Given the description of an element on the screen output the (x, y) to click on. 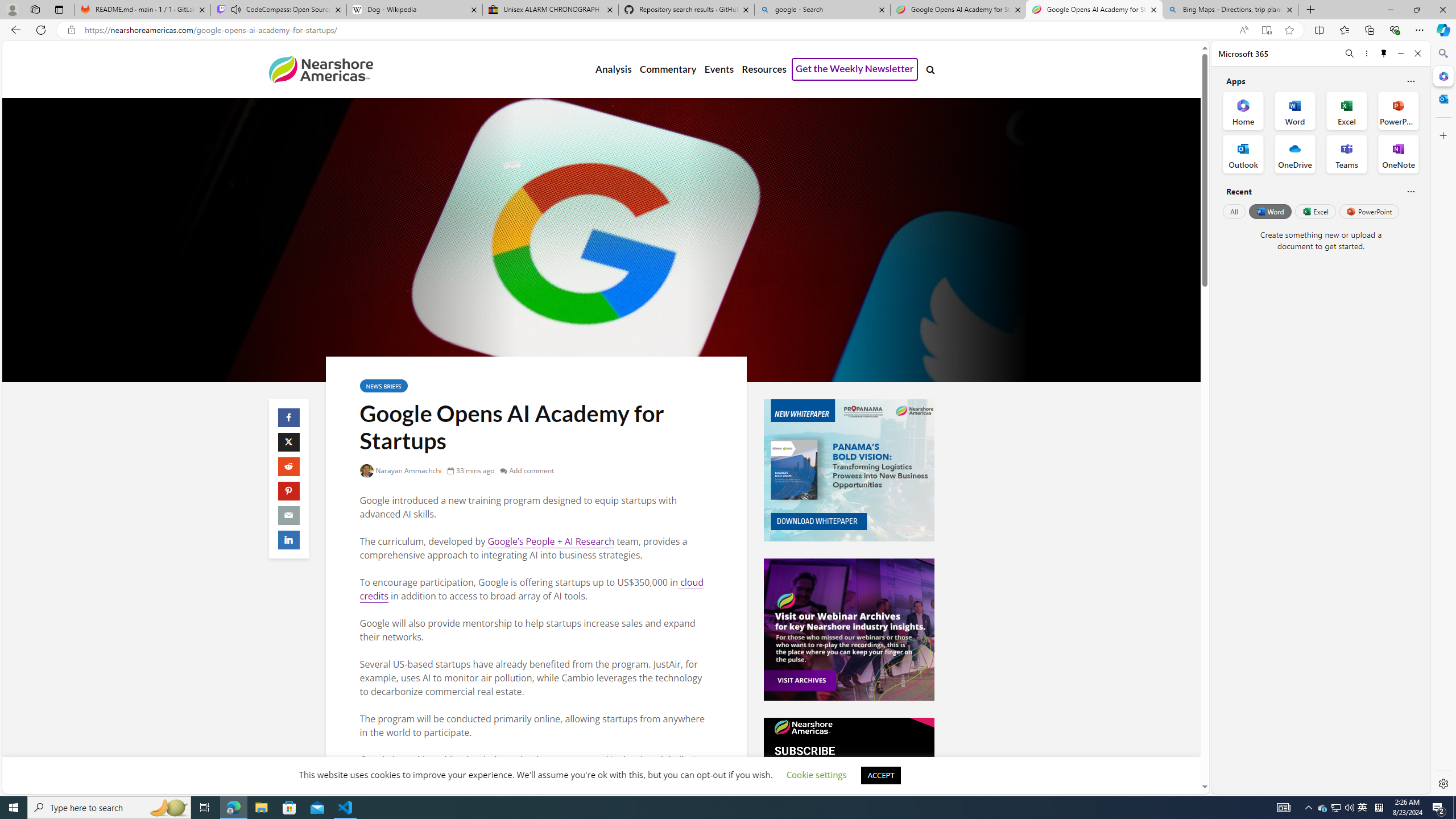
Read aloud this page (Ctrl+Shift+U) (1243, 29)
Teams Office App (1346, 154)
Outlook Office App (1243, 154)
Events-Banner-Ad.jpg (848, 629)
google - Search (822, 9)
PowerPoint (1369, 210)
Get the Weekly Newsletter (854, 69)
Events-Banner-Ad.jpg (848, 629)
Resources (763, 69)
Favorites (1344, 29)
